Given the description of an element on the screen output the (x, y) to click on. 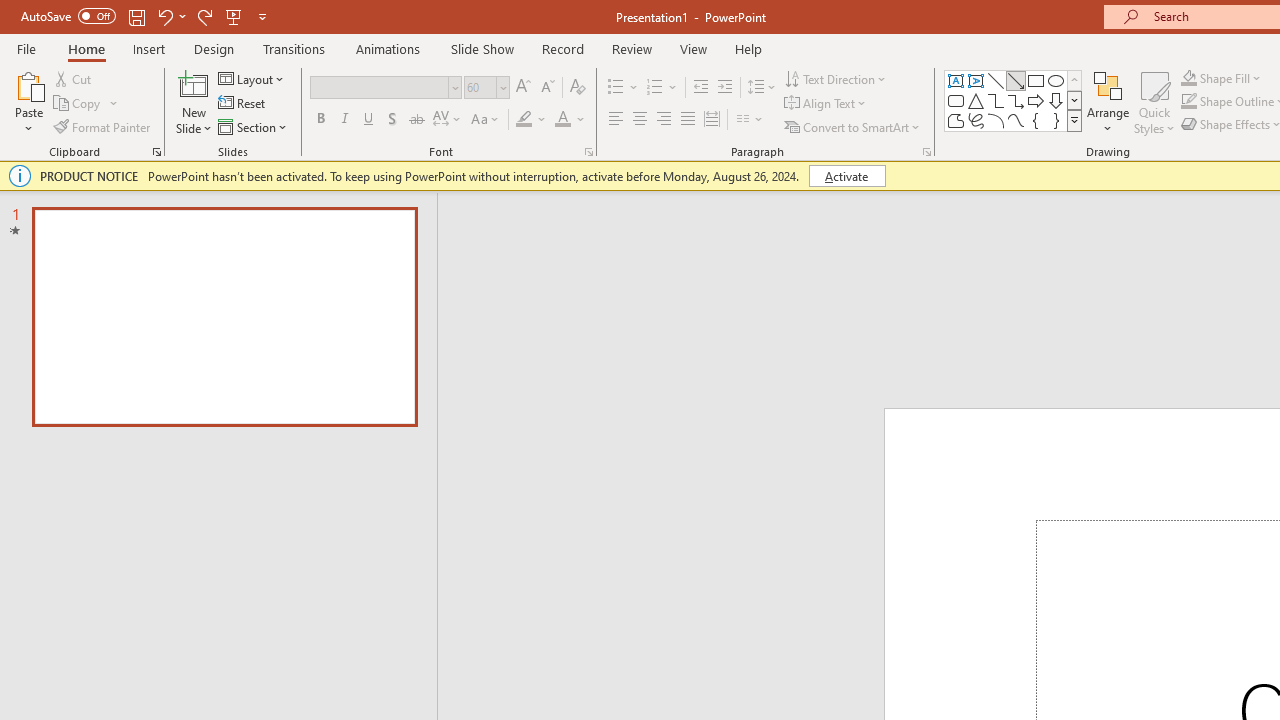
Activate (846, 175)
